Given the description of an element on the screen output the (x, y) to click on. 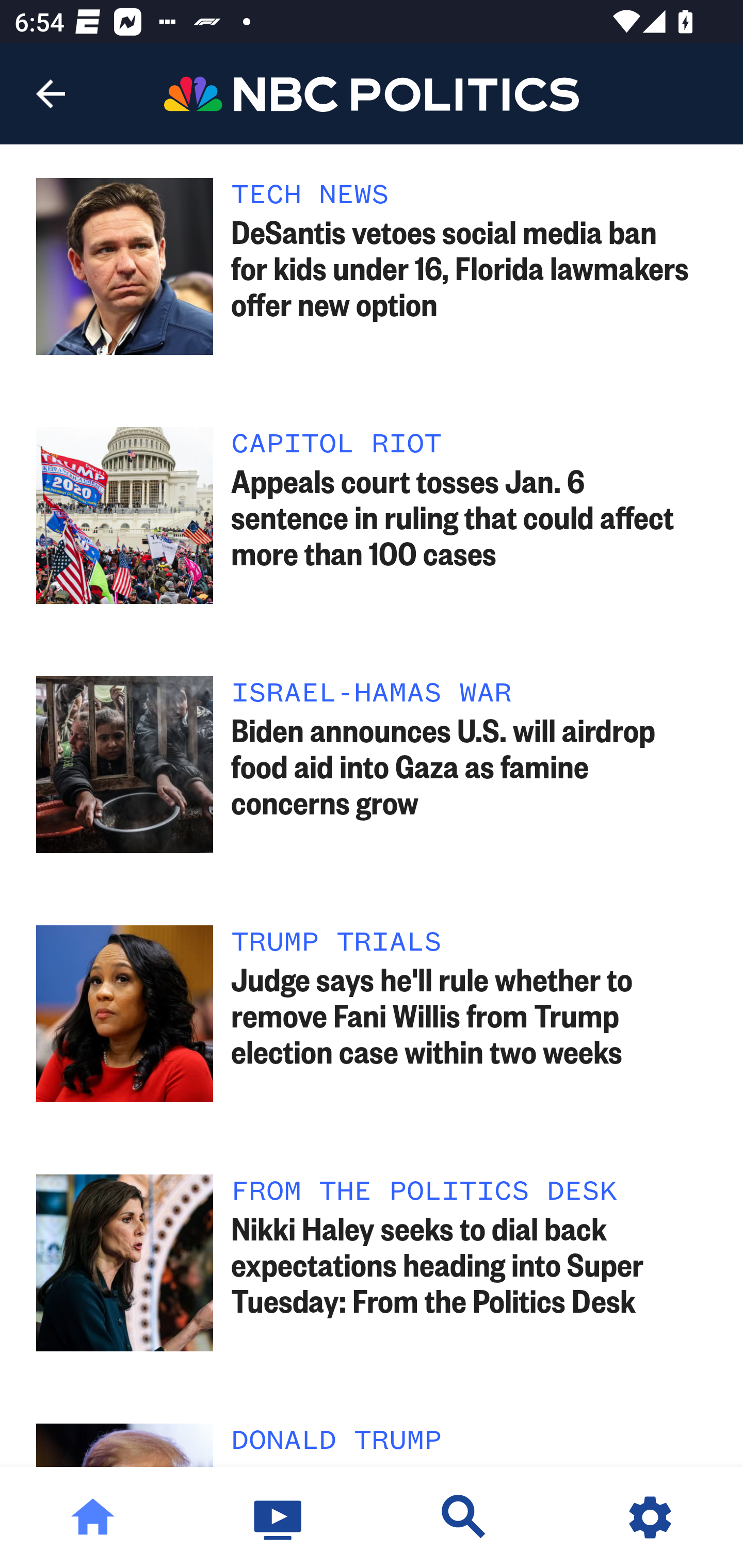
Navigate up (50, 93)
Watch (278, 1517)
Discover (464, 1517)
Settings (650, 1517)
